Given the description of an element on the screen output the (x, y) to click on. 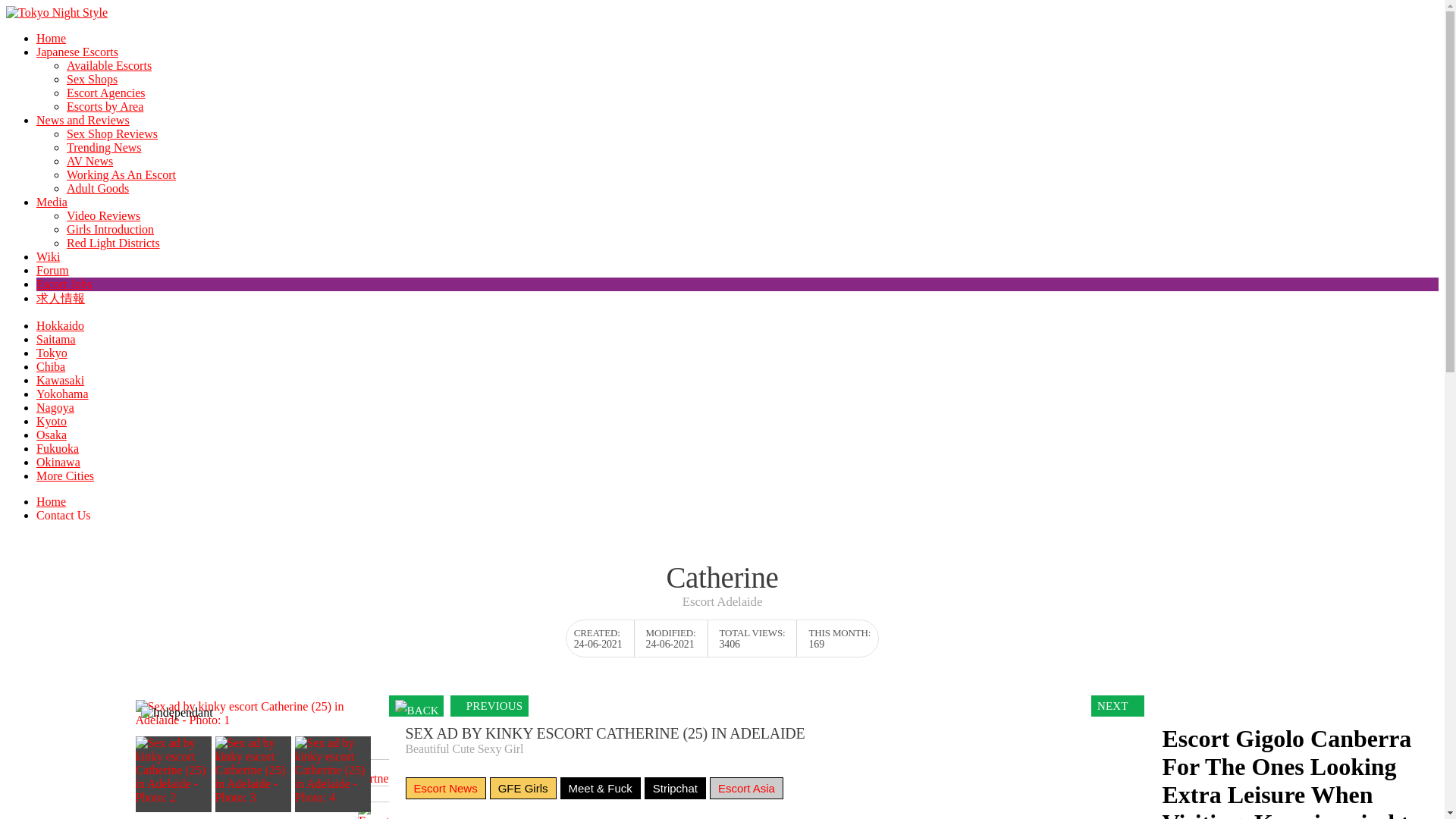
AV News (89, 160)
More Cities (65, 475)
Wiki (47, 256)
Available Escorts (108, 65)
News and Reviews (82, 119)
Trending News (103, 146)
Tokyo (51, 352)
Okinawa (58, 461)
Sex Shop Reviews (111, 133)
Japanese Escorts (76, 51)
